Given the description of an element on the screen output the (x, y) to click on. 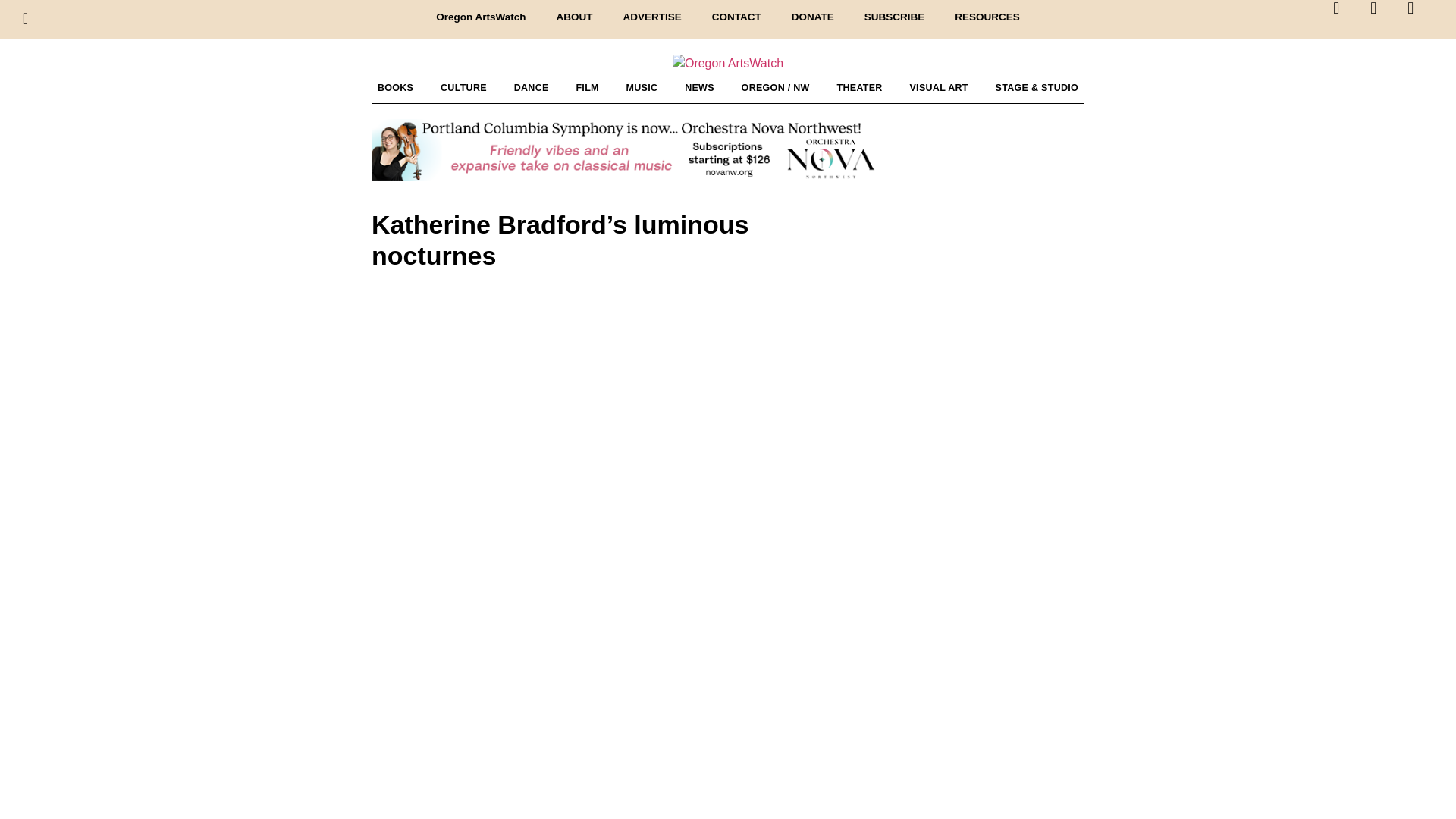
DONATE (812, 17)
CONTACT (736, 17)
Oregon ArtsWatch (480, 17)
ABOUT (573, 17)
CULTURE (463, 87)
RESOURCES (987, 17)
BOOKS (395, 87)
SUBSCRIBE (894, 17)
Oregon ArtsWatch (727, 63)
ADVERTISE (651, 17)
